Given the description of an element on the screen output the (x, y) to click on. 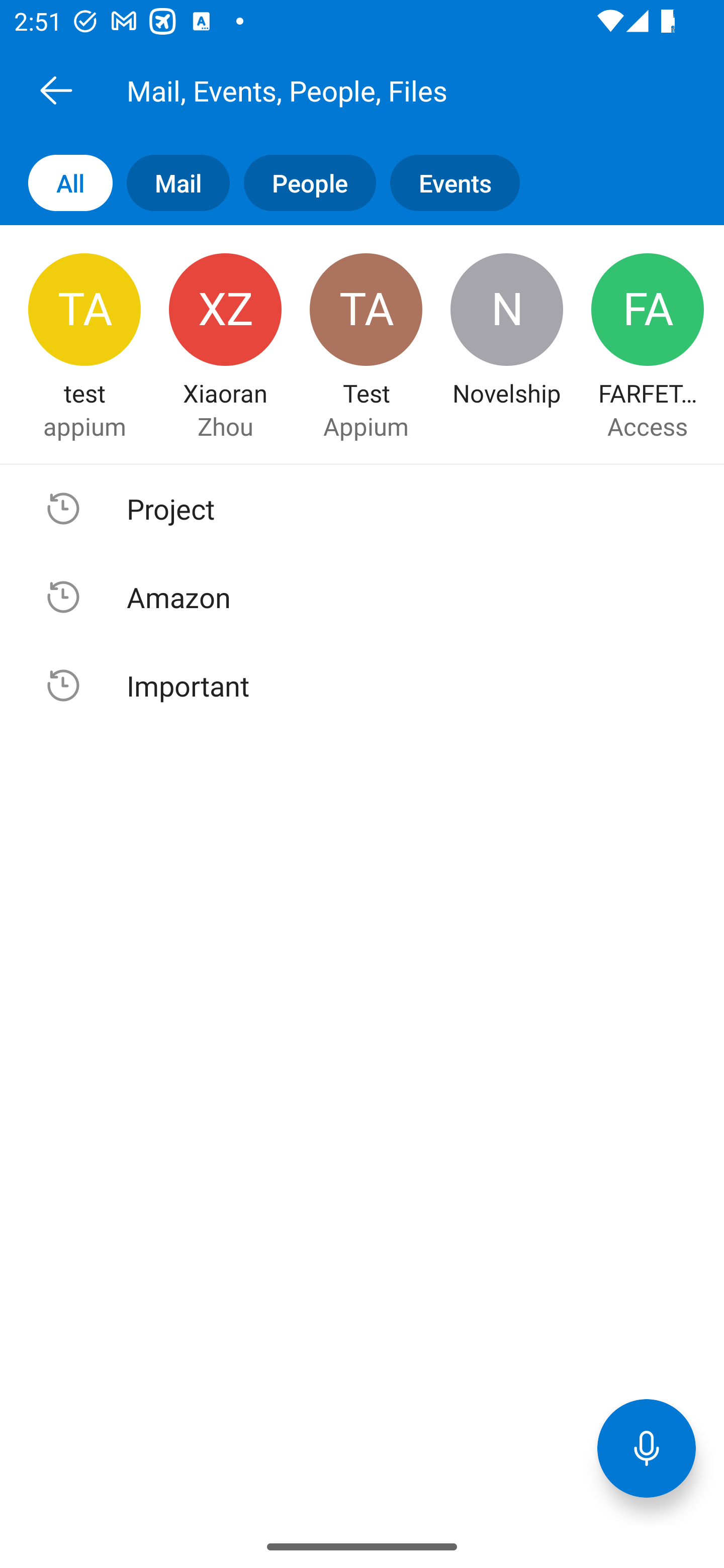
Back (55, 89)
Mail, Events, People, Files (384, 89)
Mail (170, 183)
People (302, 183)
Events (447, 183)
Suggested search , Text, Project Project (362, 508)
Suggested search , Text, Amazon Amazon (362, 597)
Suggested search , Text, Important Important (362, 685)
Voice Assistant (646, 1447)
